Given the description of an element on the screen output the (x, y) to click on. 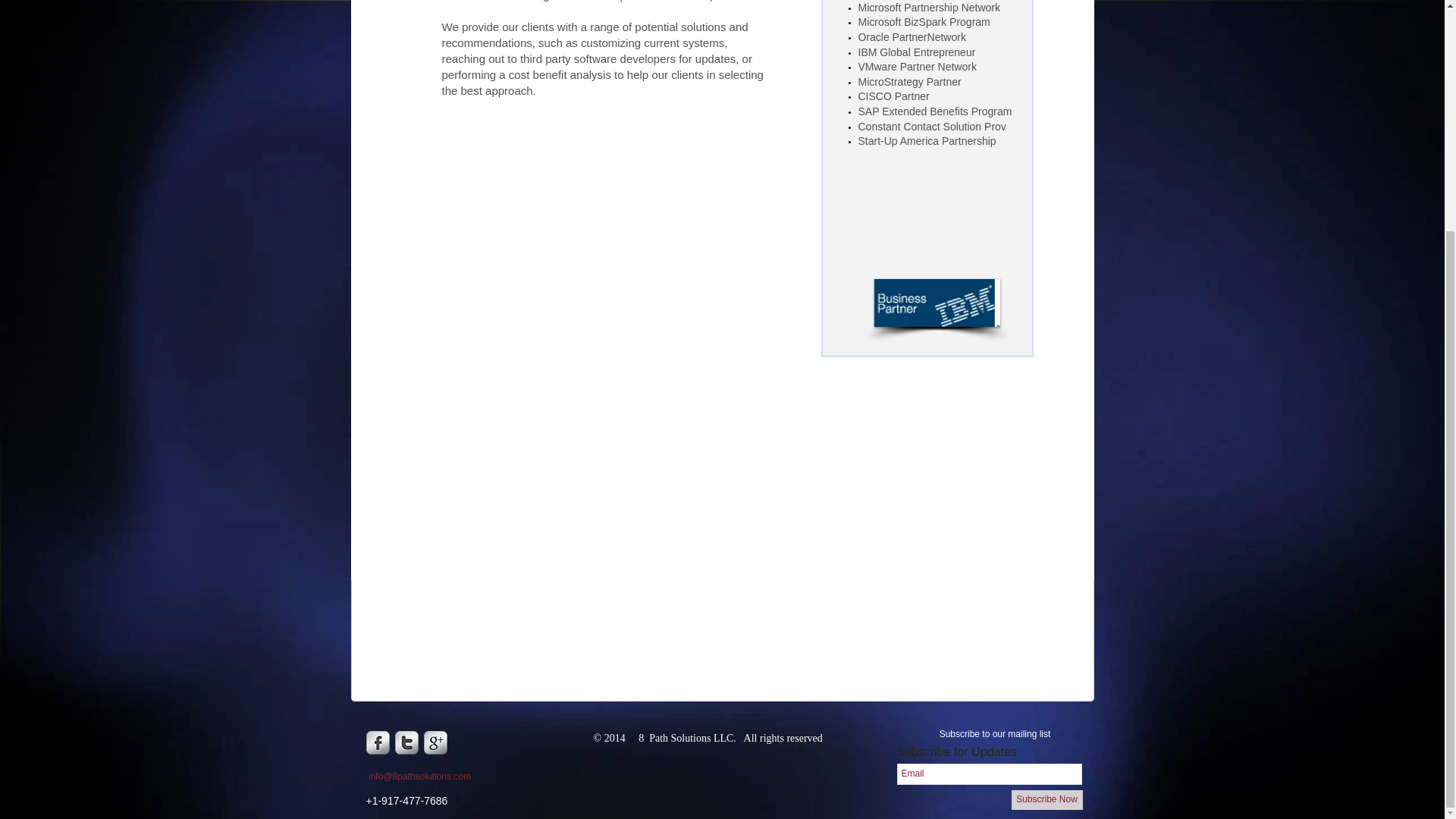
Webmaster Login (1024, 770)
Subscribe Now (1047, 799)
